Given the description of an element on the screen output the (x, y) to click on. 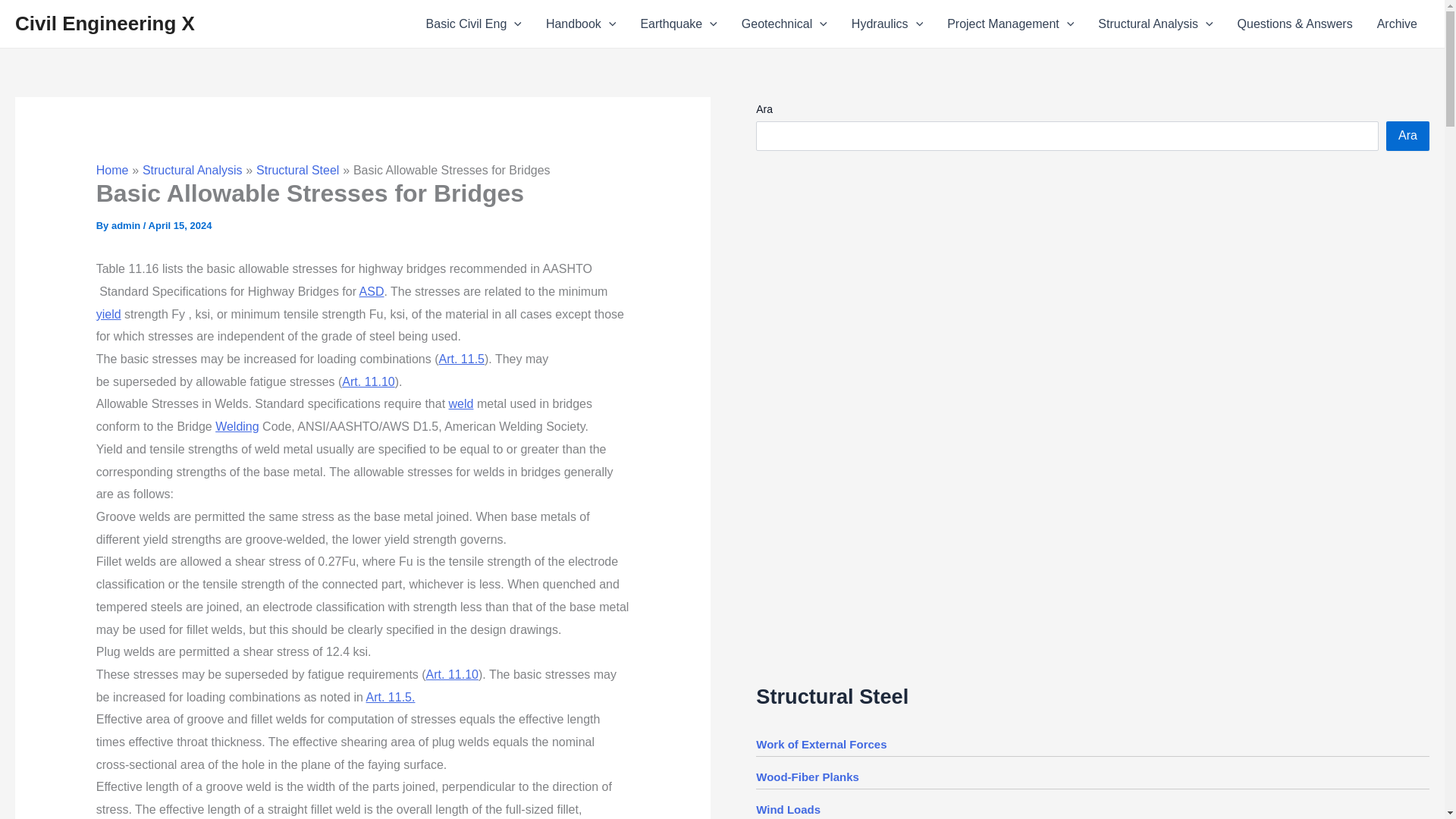
weld (461, 403)
ASD (371, 291)
yield (108, 314)
Civil Engineering X (104, 23)
Handbook (581, 23)
Basic Civil Eng (473, 23)
Welding (237, 426)
View all posts by admin (127, 225)
